Given the description of an element on the screen output the (x, y) to click on. 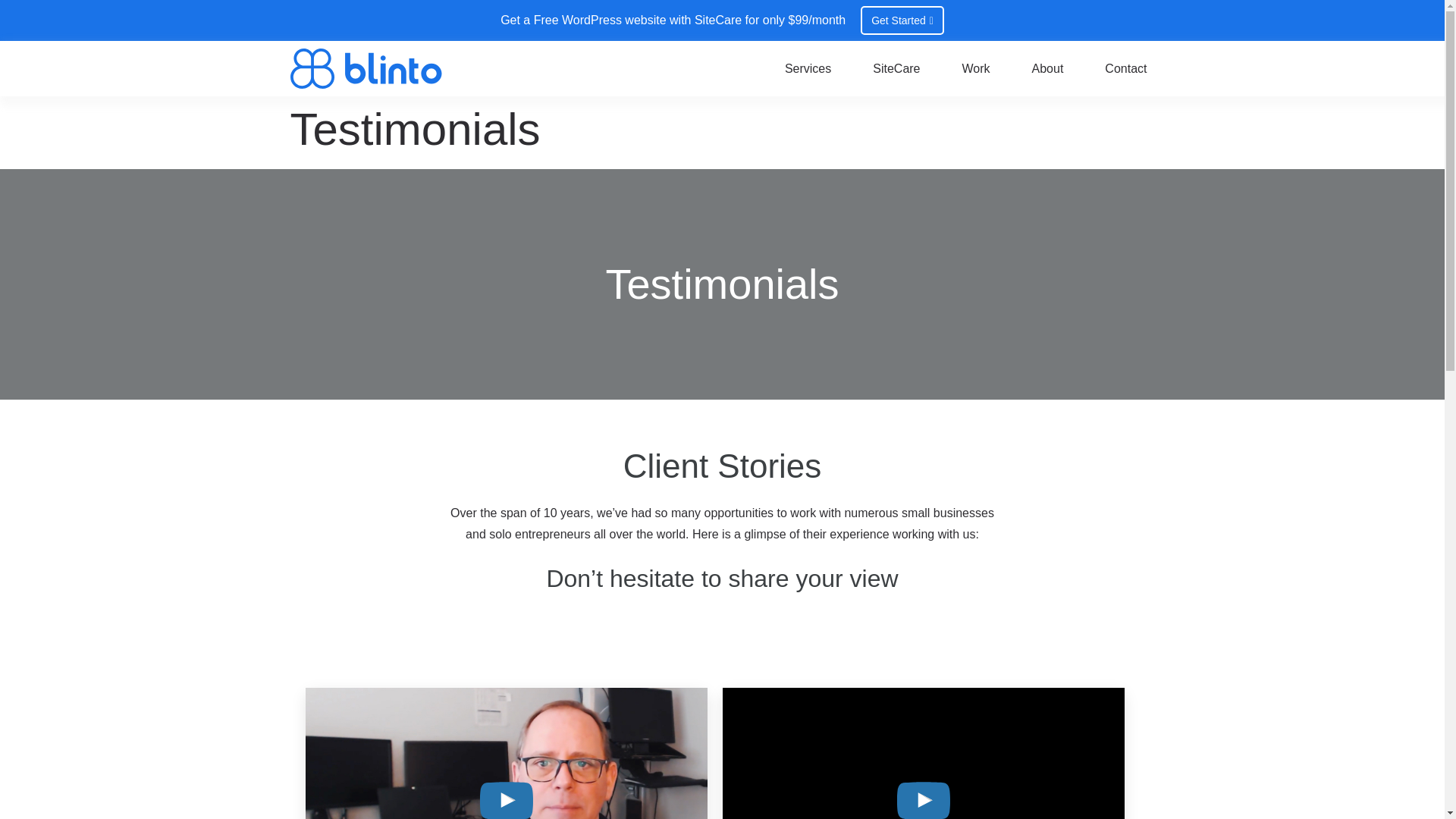
About (1048, 68)
Services (807, 68)
SiteCare (895, 68)
Contact (1125, 68)
Work (975, 68)
Get Started (901, 20)
